Given the description of an element on the screen output the (x, y) to click on. 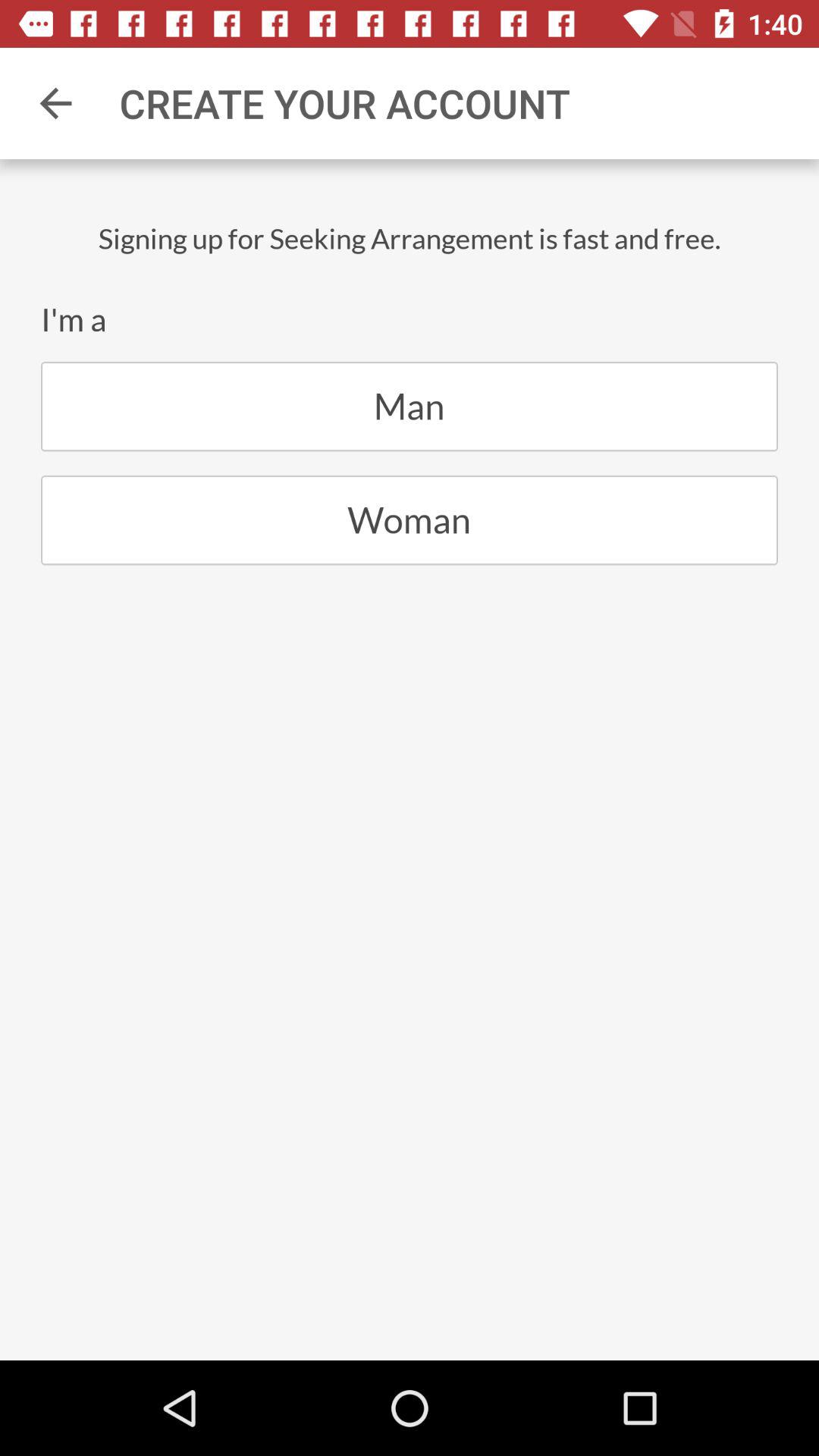
turn off app next to create your account (55, 103)
